Given the description of an element on the screen output the (x, y) to click on. 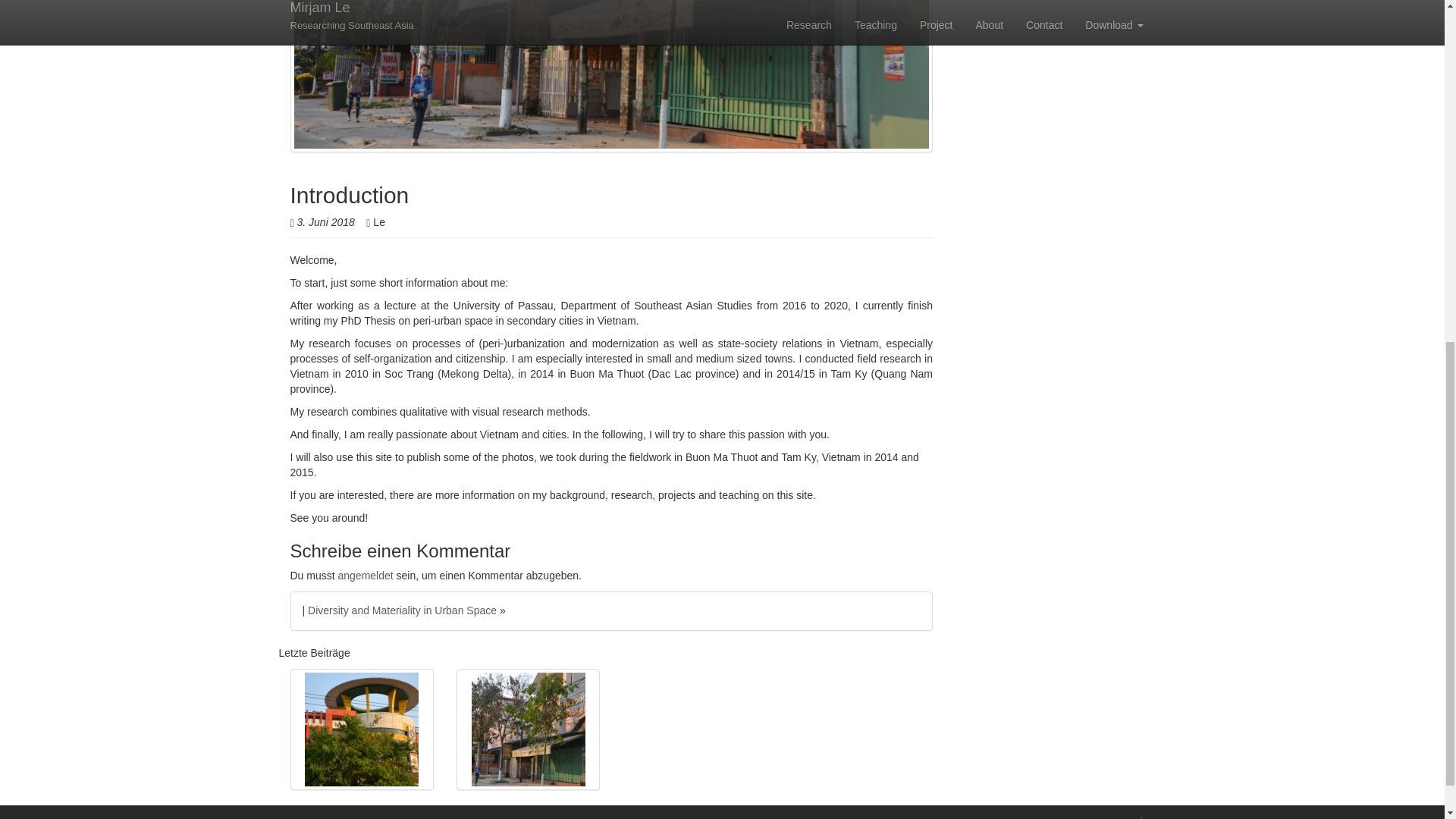
Diversity and Materiality in Urban Space (401, 610)
angemeldet (365, 575)
